Given the description of an element on the screen output the (x, y) to click on. 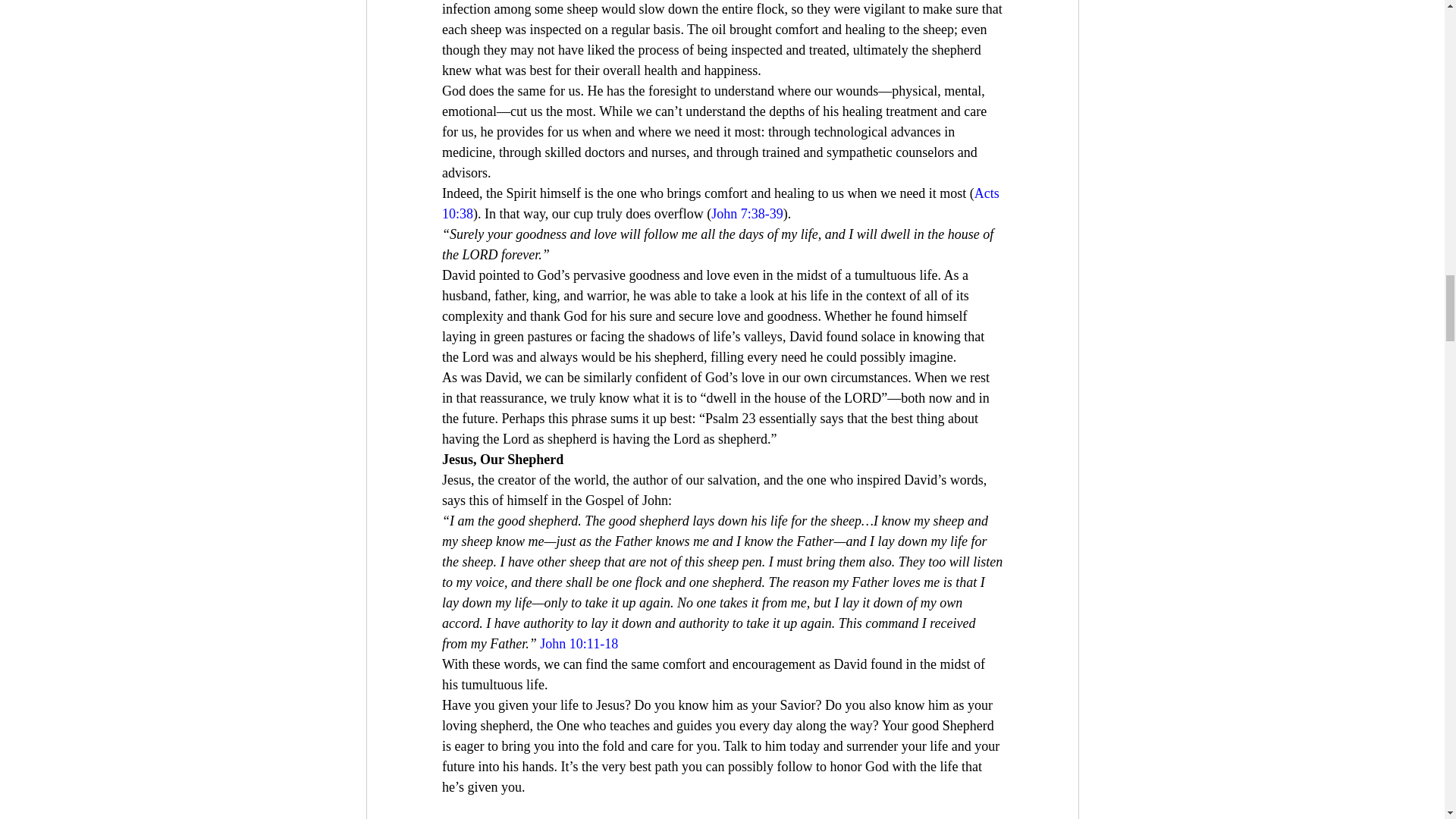
John 10:11-18 (578, 643)
John 7:38-39 (747, 213)
Acts 10:38 (721, 203)
